Given the description of an element on the screen output the (x, y) to click on. 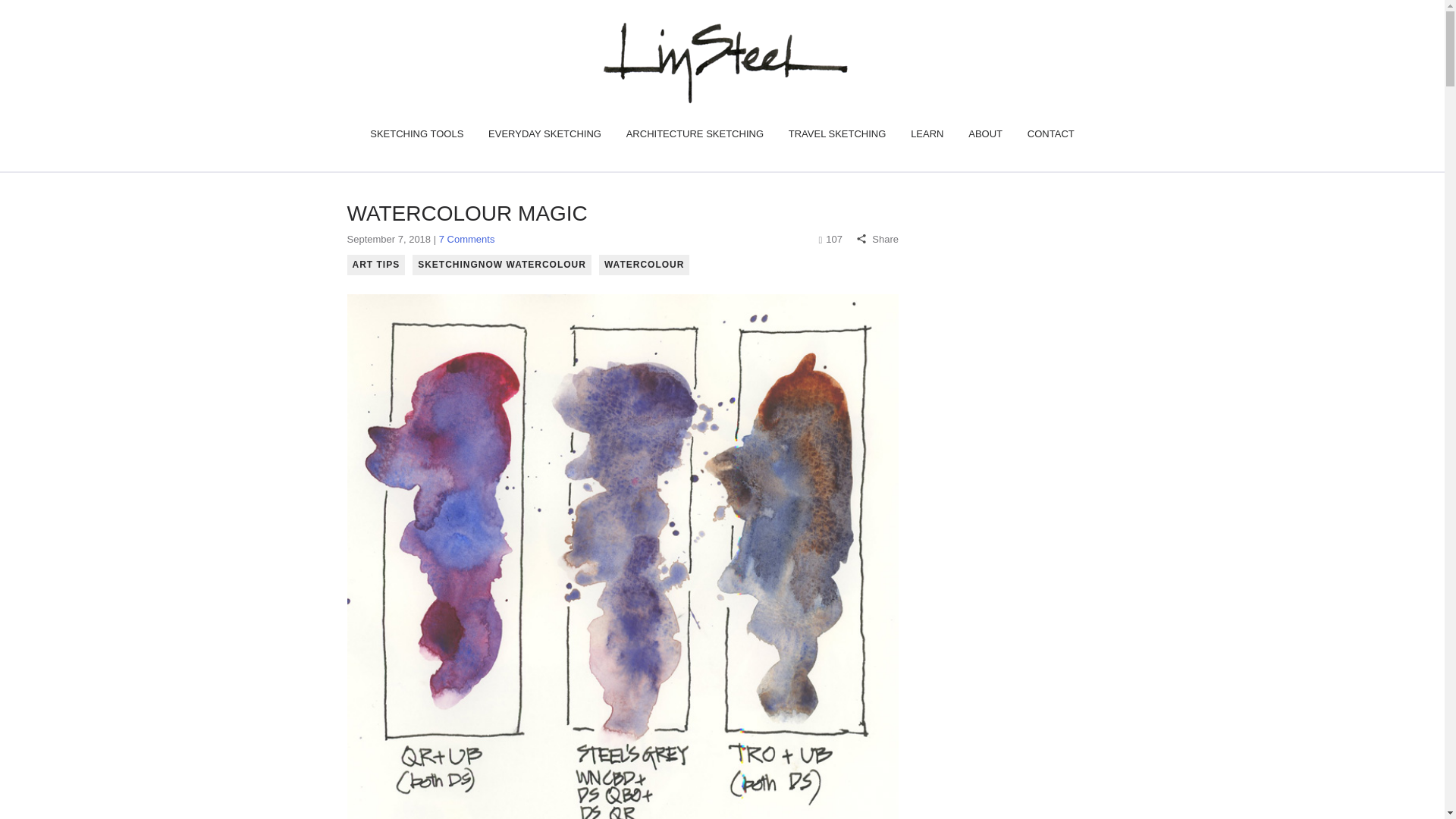
TRAVEL SKETCHING (837, 134)
ARCHITECTURE SKETCHING (694, 134)
EVERYDAY SKETCHING (544, 134)
ABOUT (984, 134)
CONTACT (1051, 134)
SKETCHING TOOLS (416, 134)
LEARN (927, 134)
Like (831, 238)
